Given the description of an element on the screen output the (x, y) to click on. 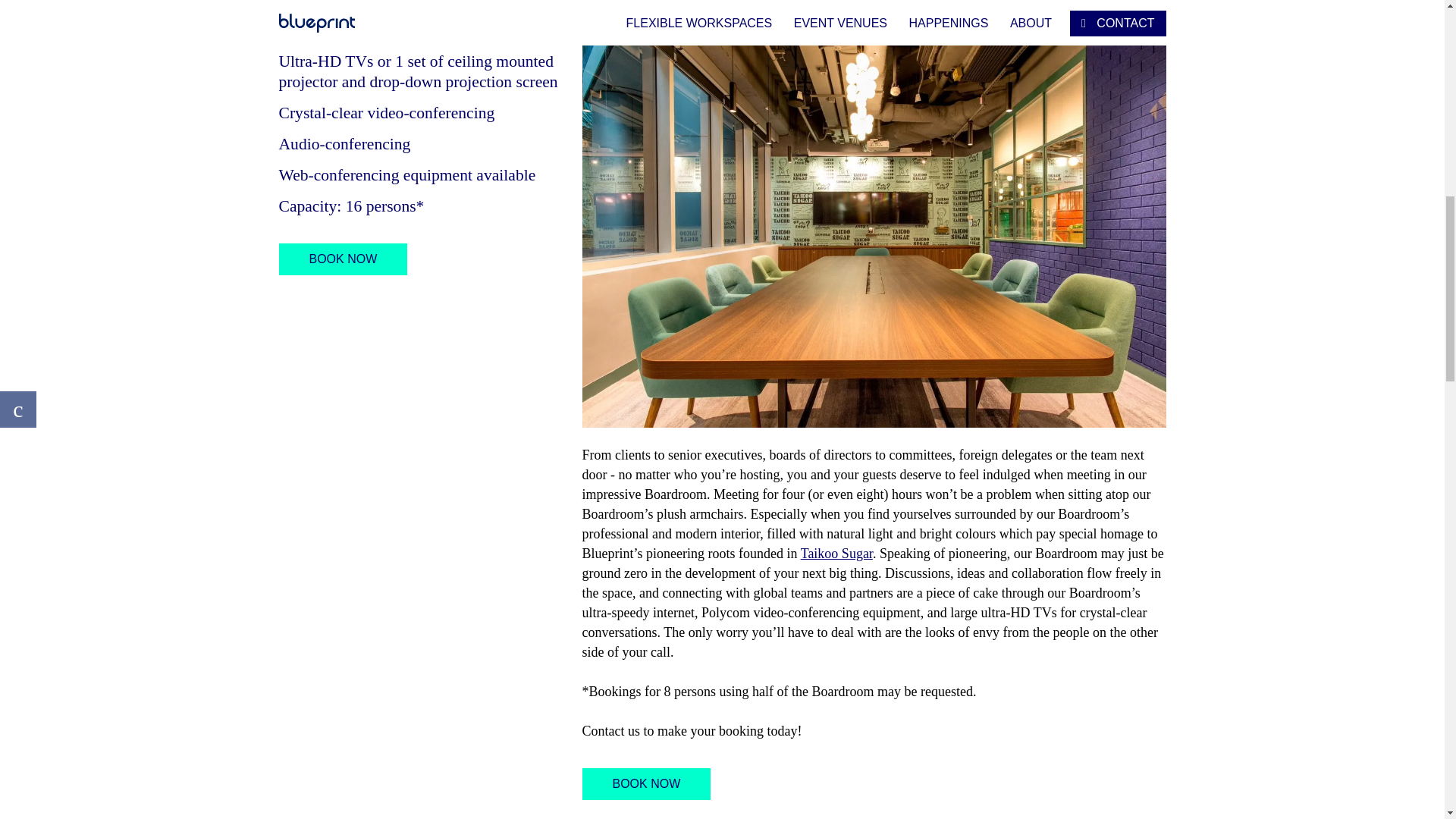
Taikoo Sugar (836, 553)
BOOK NOW (646, 784)
BOOK NOW (343, 259)
